Given the description of an element on the screen output the (x, y) to click on. 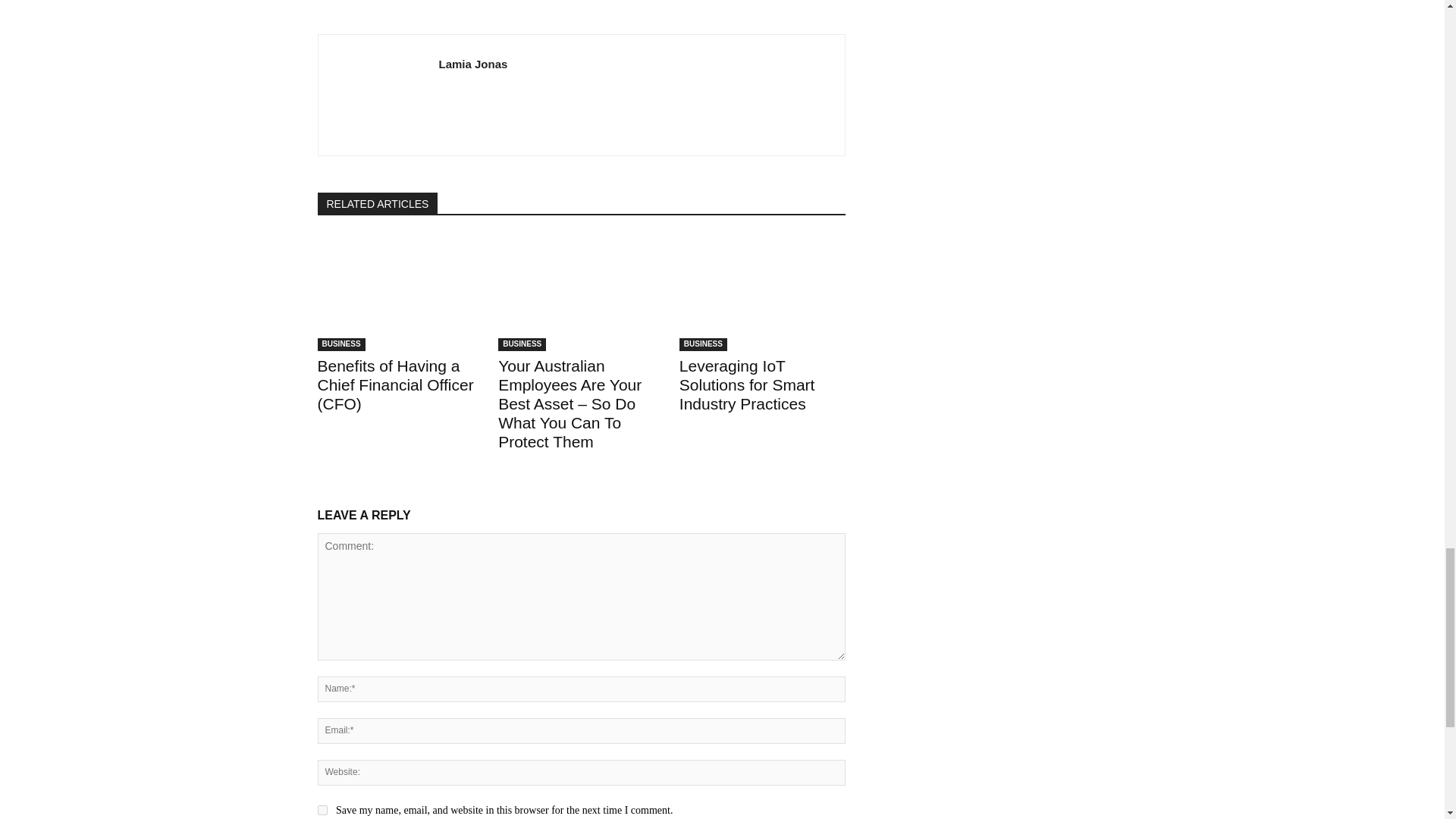
yes (321, 809)
